Given the description of an element on the screen output the (x, y) to click on. 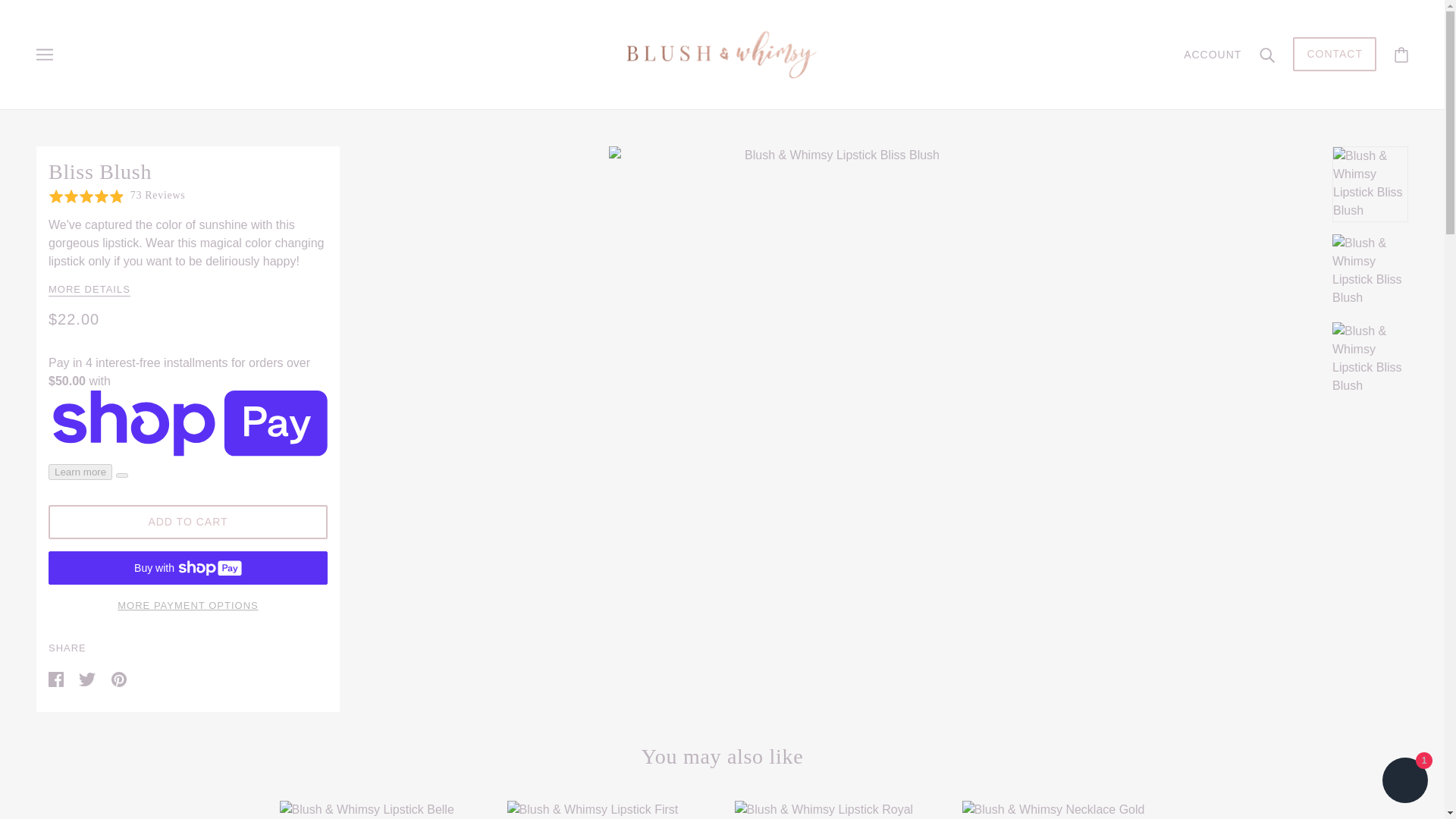
MORE PAYMENT OPTIONS (187, 599)
Shopify online store chat (1404, 781)
CONTACT (1333, 61)
MORE DETAILS (89, 290)
ACCOUNT (1212, 54)
ADD TO CART (187, 521)
